Given the description of an element on the screen output the (x, y) to click on. 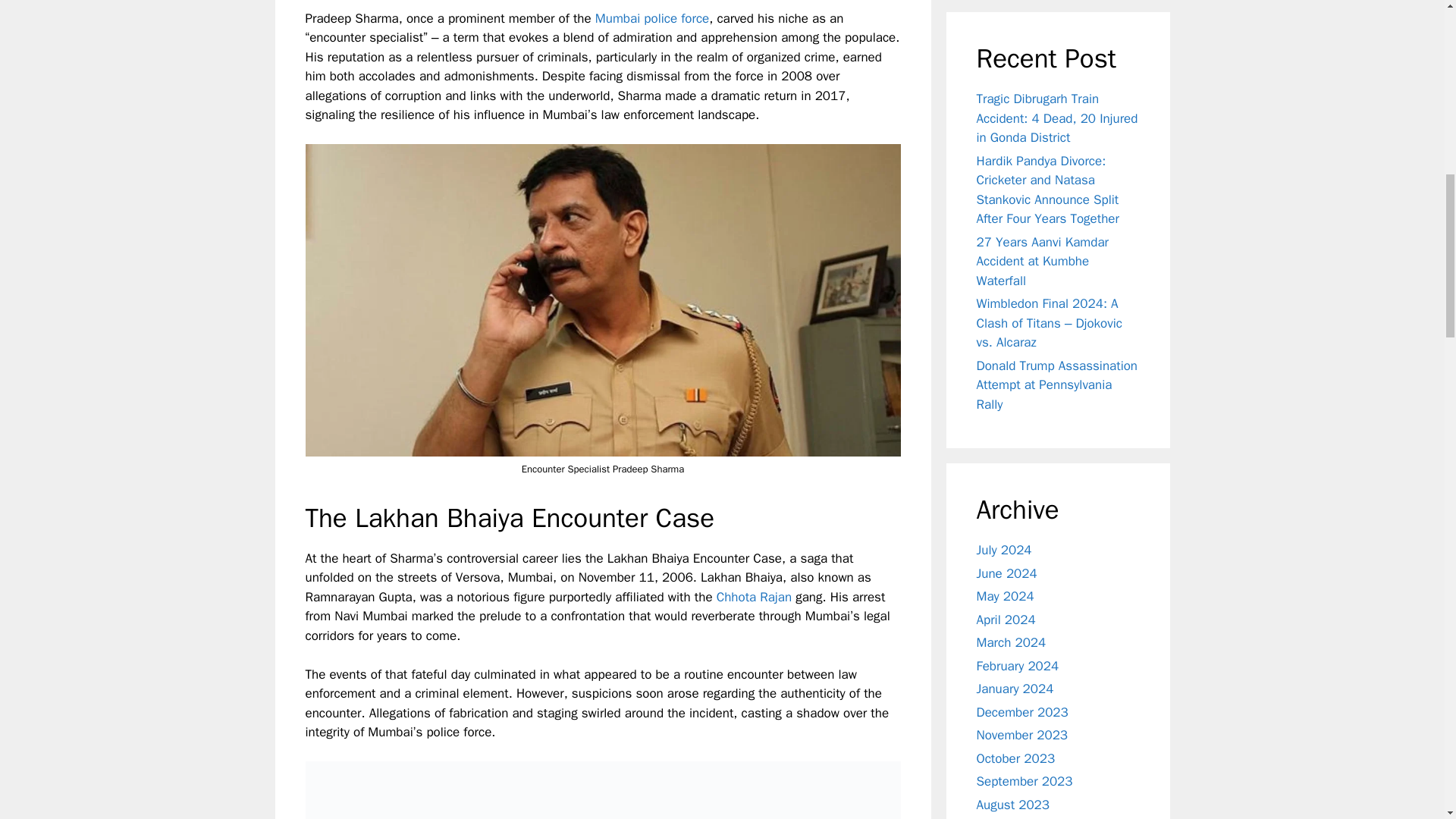
Chhota Rajan (754, 596)
Scroll back to top (1406, 720)
Mumbai police force (652, 18)
